Given the description of an element on the screen output the (x, y) to click on. 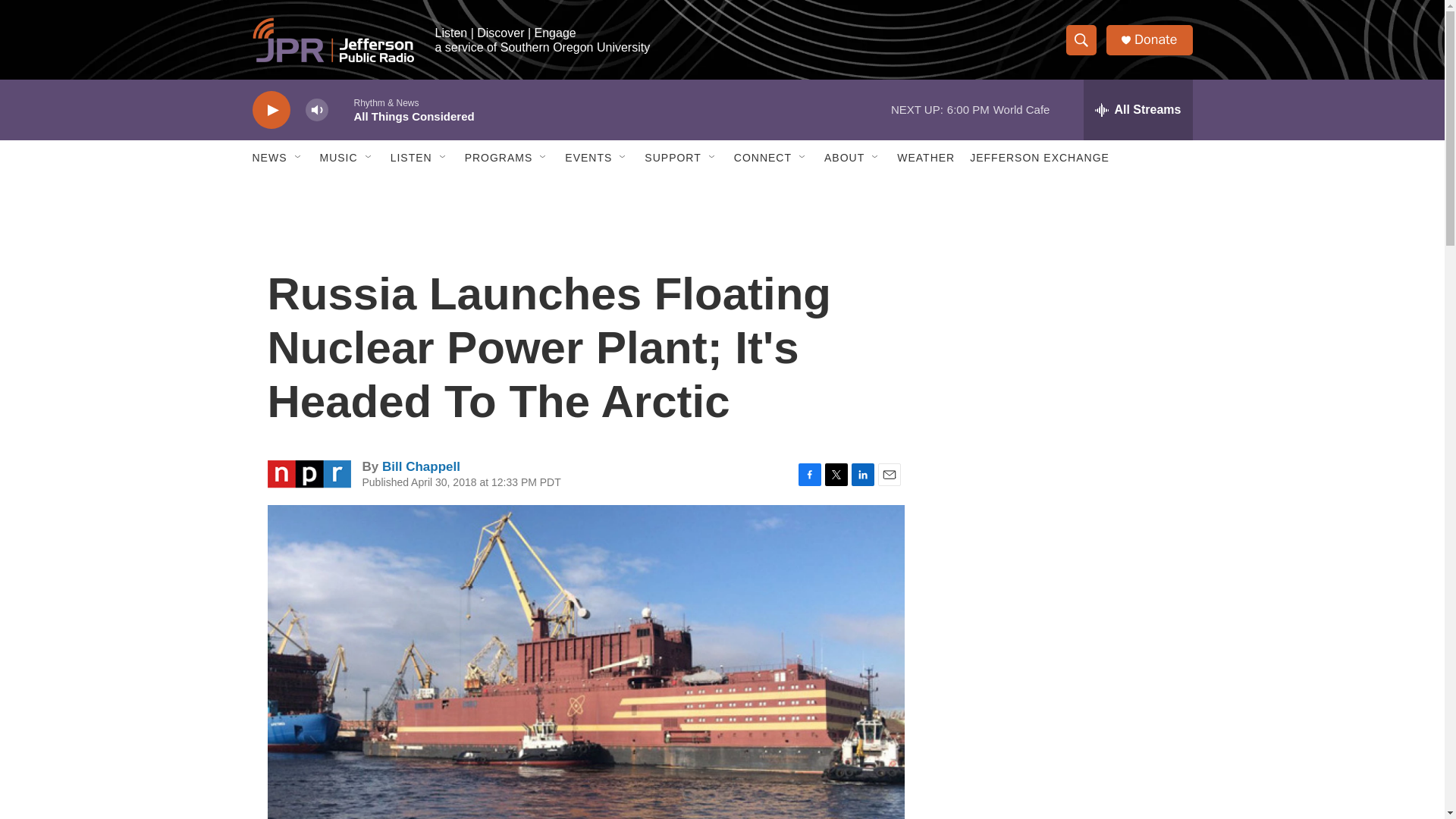
3rd party ad content (1062, 536)
3rd party ad content (1062, 740)
3rd party ad content (1062, 316)
